Given the description of an element on the screen output the (x, y) to click on. 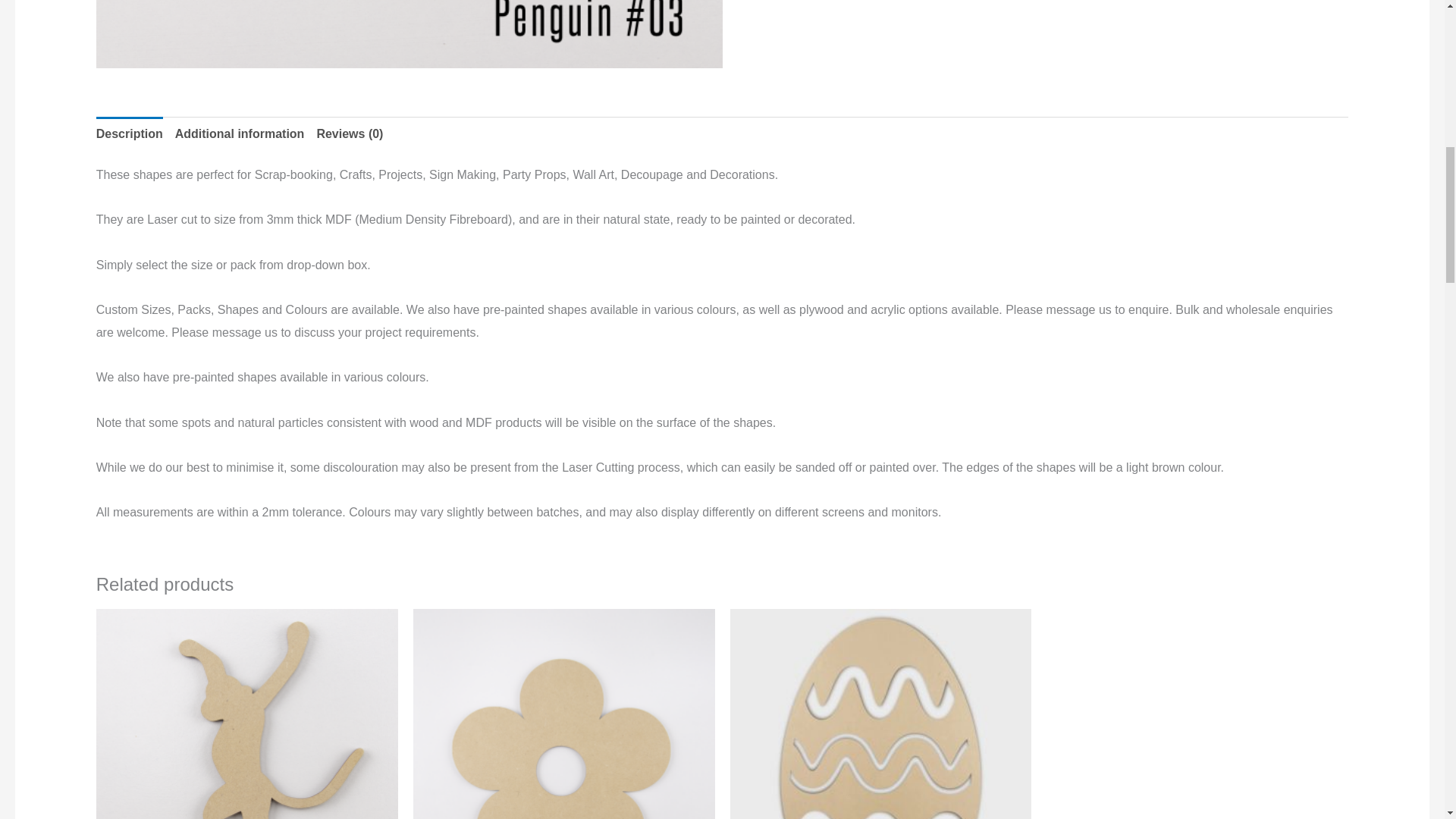
Additional information (239, 134)
Description (129, 134)
57-9 (409, 33)
